Given the description of an element on the screen output the (x, y) to click on. 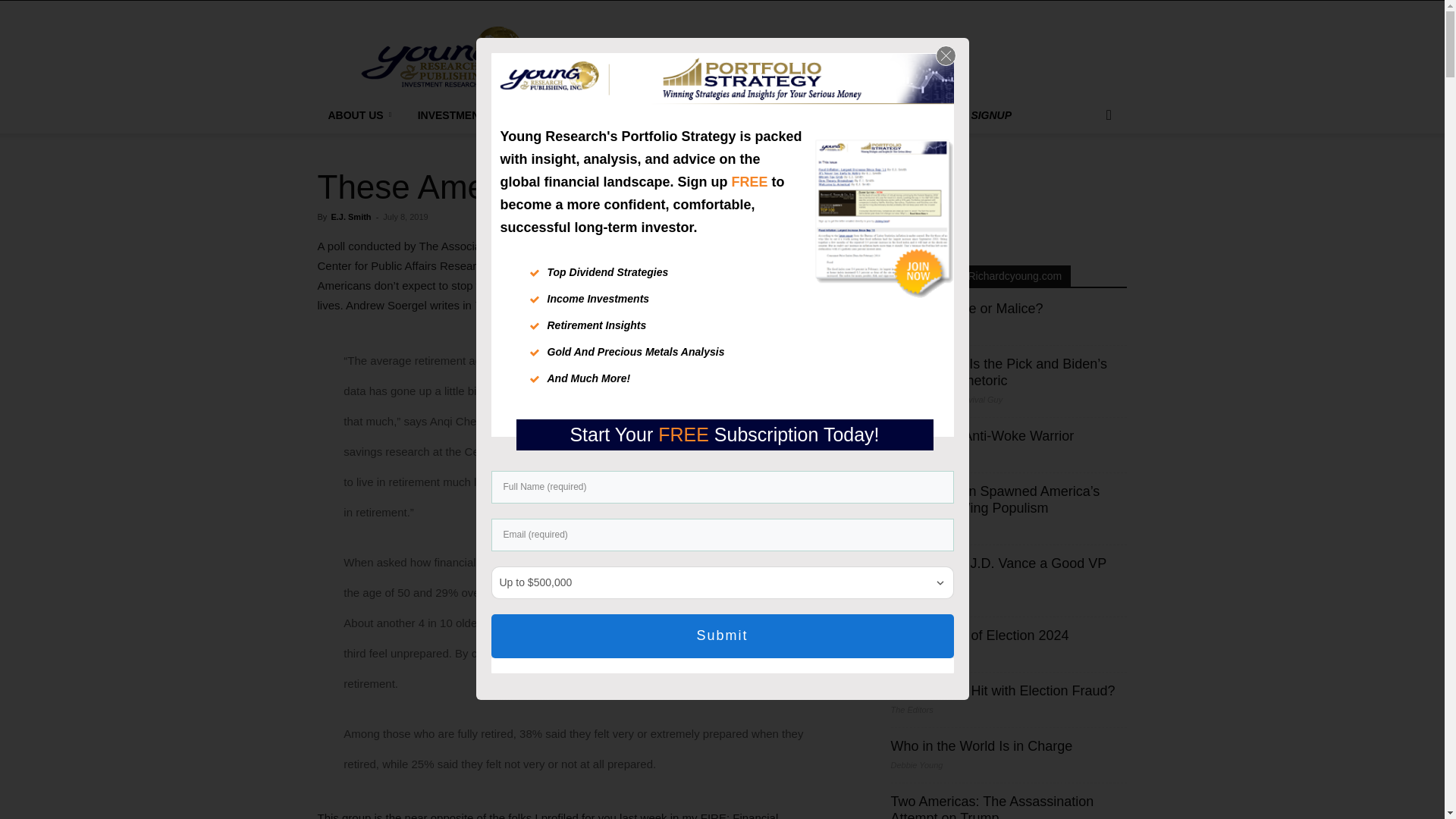
YR-Portfolio-Strategy (746, 79)
ABOUT US (361, 115)
INVESTMENT ANALYSIS (485, 115)
